Given the description of an element on the screen output the (x, y) to click on. 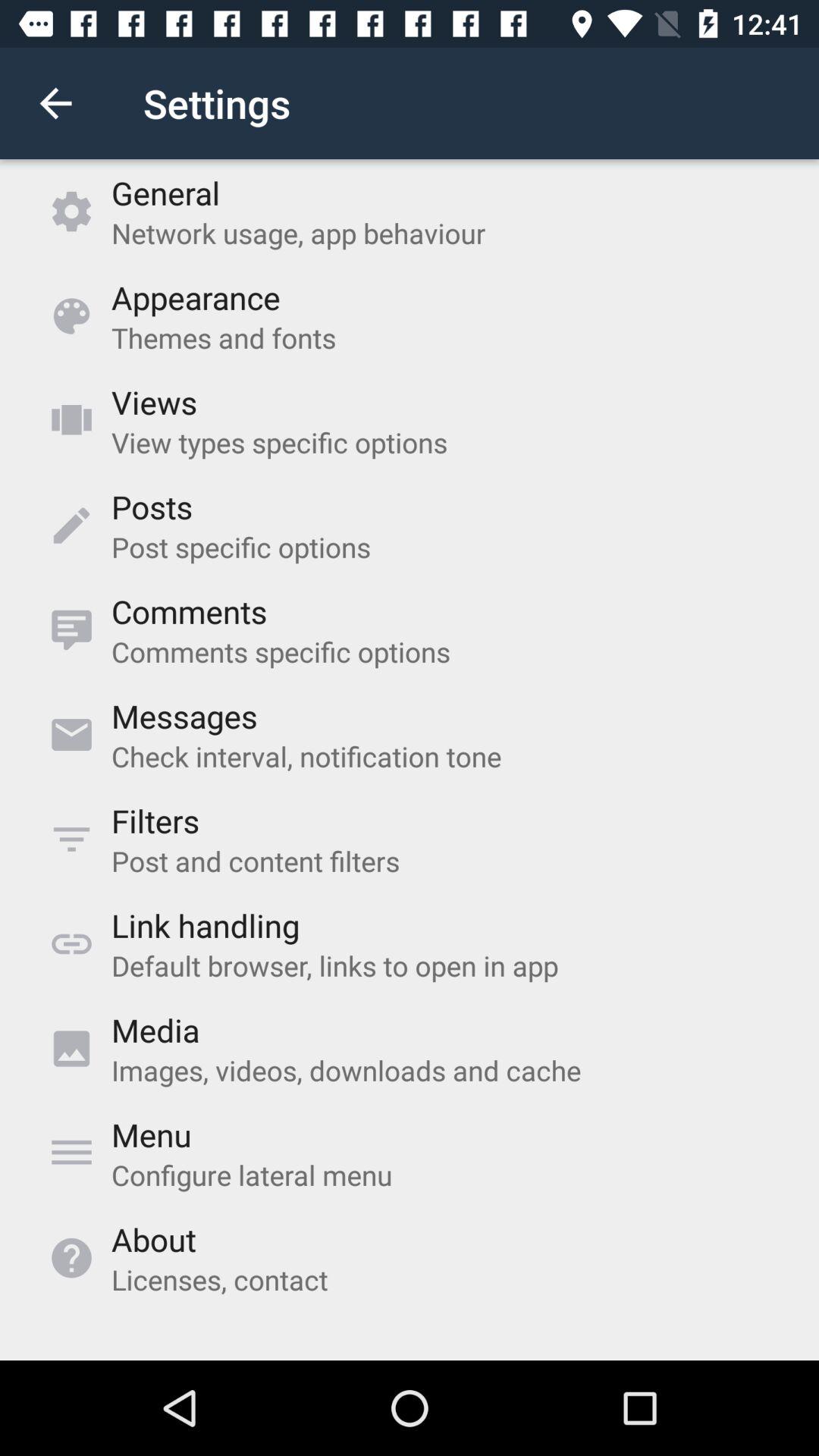
launch the item below filters item (255, 860)
